Given the description of an element on the screen output the (x, y) to click on. 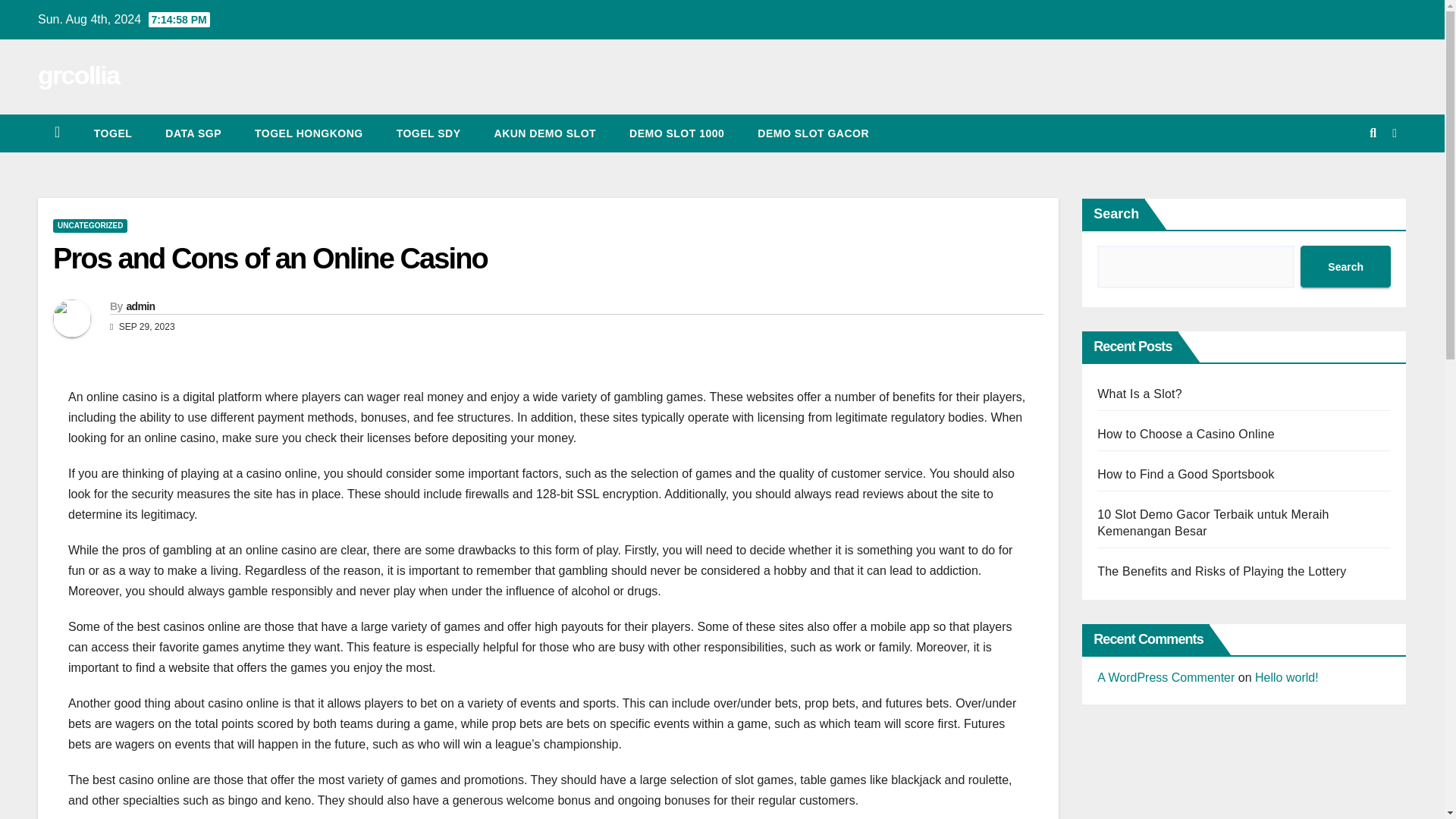
Togel Hongkong (309, 133)
grcollia (78, 74)
demo slot 1000 (676, 133)
demo slot gacor (813, 133)
Pros and Cons of an Online Casino (269, 258)
togel (112, 133)
AKUN DEMO SLOT (544, 133)
admin (139, 306)
Permalink to: Pros and Cons of an Online Casino (269, 258)
akun demo slot (544, 133)
UNCATEGORIZED (90, 225)
DEMO SLOT 1000 (676, 133)
DEMO SLOT GACOR (813, 133)
TOGEL HONGKONG (309, 133)
Togel SDY (428, 133)
